Given the description of an element on the screen output the (x, y) to click on. 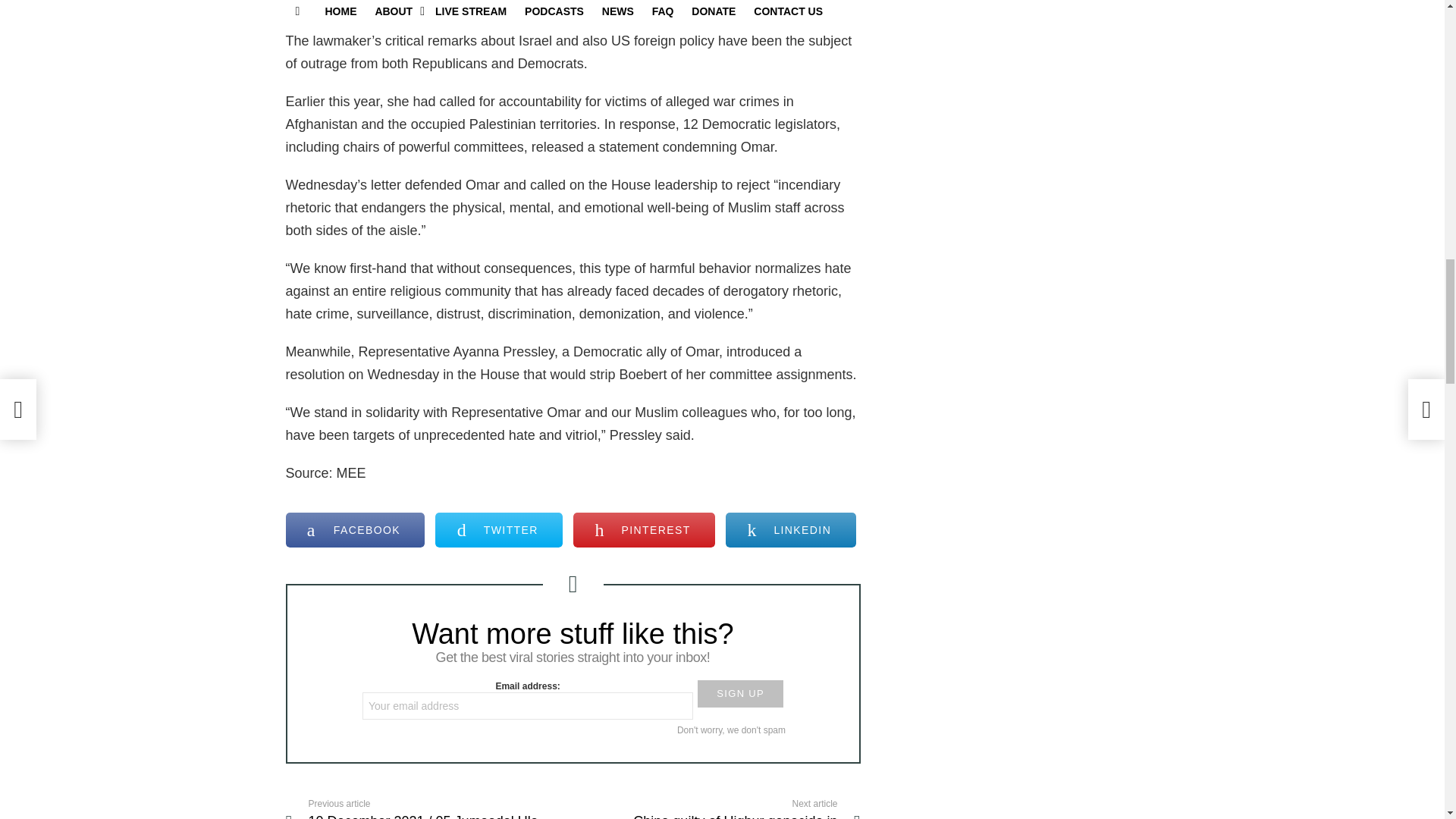
FACEBOOK (355, 529)
Share on LinkedIn (790, 529)
Share on Pinterest (643, 529)
Sign up (740, 693)
PINTEREST (643, 529)
Share on Facebook (355, 529)
TWITTER (498, 529)
Sign up (740, 693)
LINKEDIN (790, 529)
Share on Twitter (498, 529)
